Given the description of an element on the screen output the (x, y) to click on. 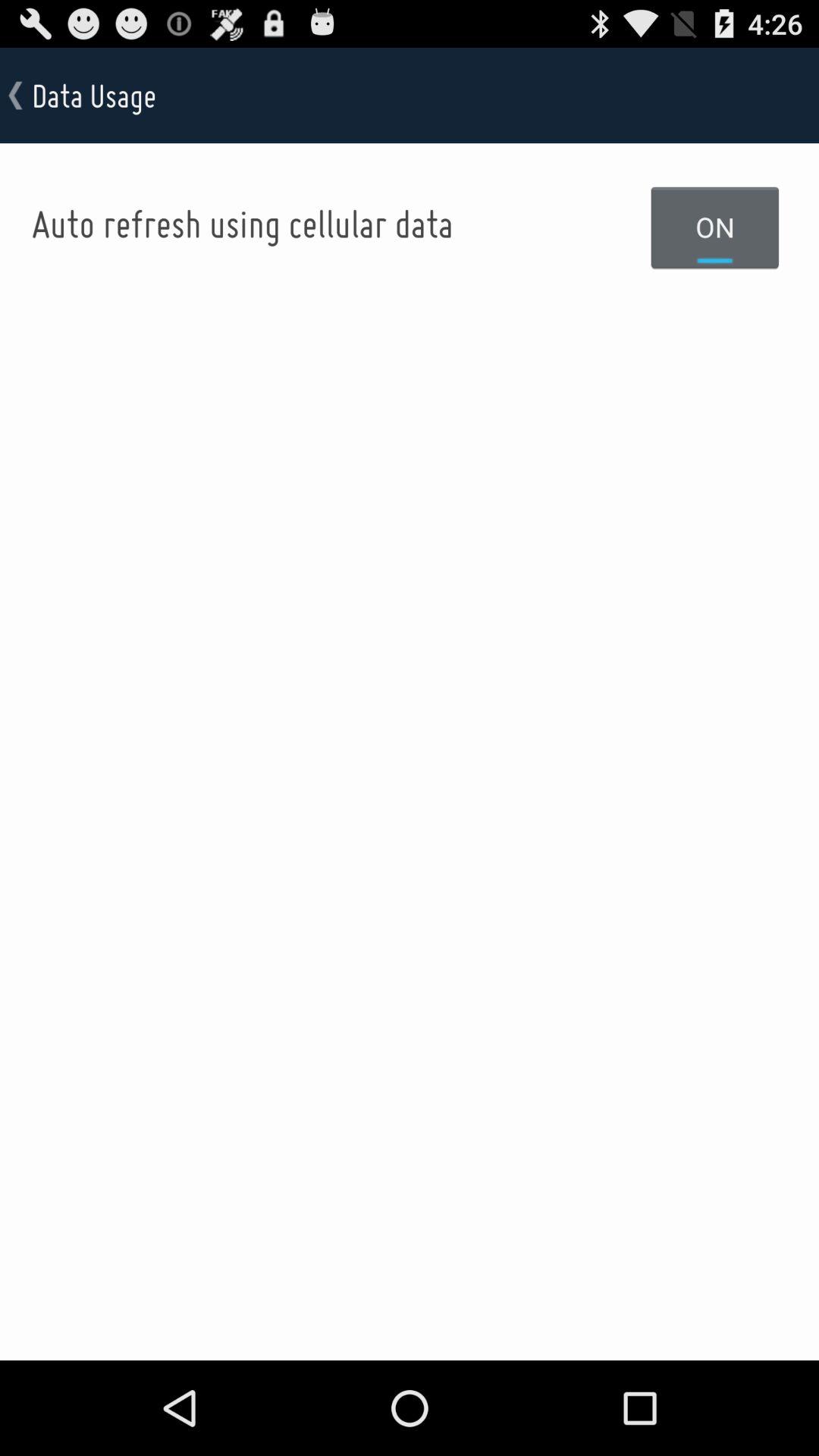
open the icon next to auto refresh using icon (714, 226)
